Given the description of an element on the screen output the (x, y) to click on. 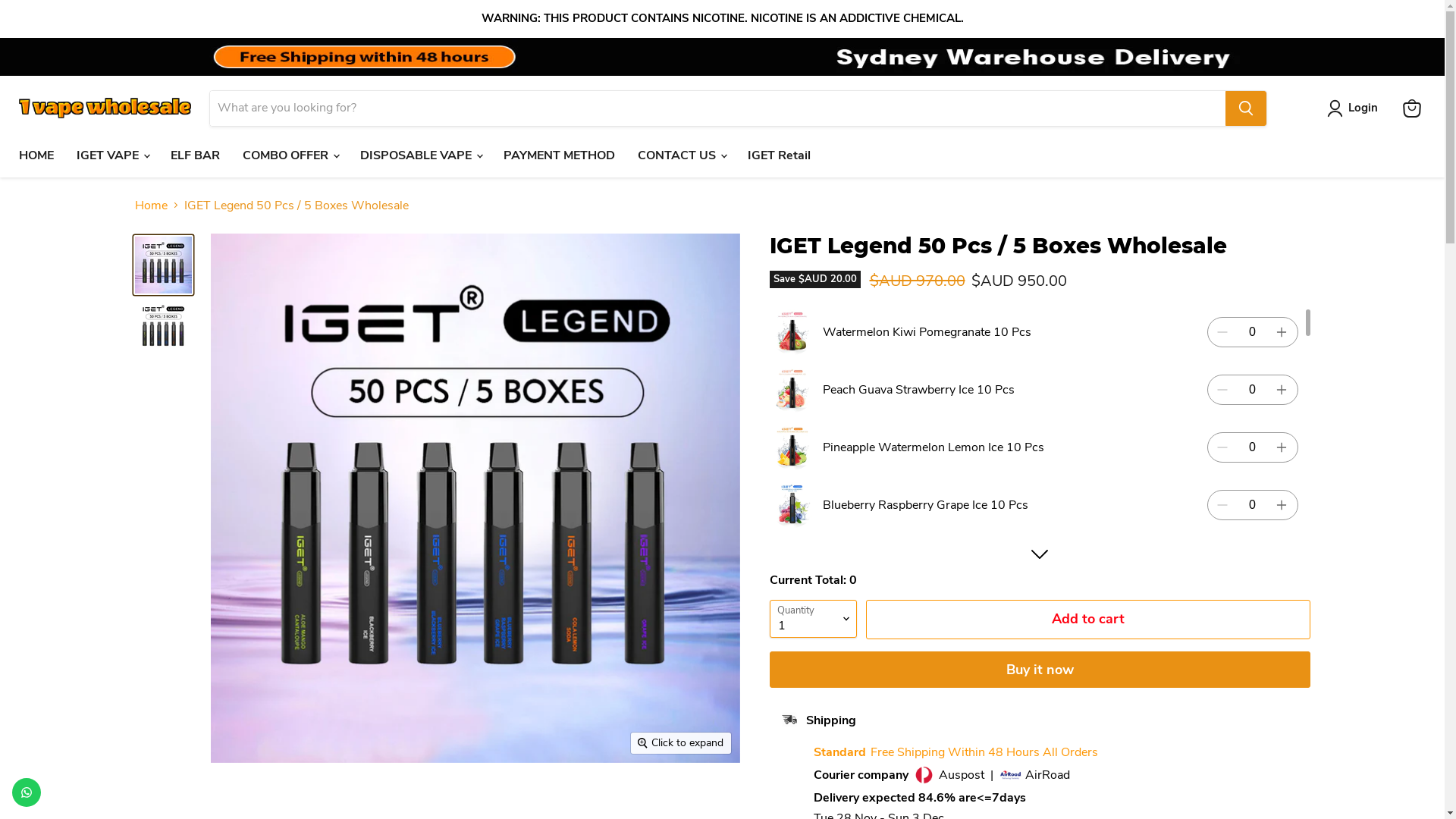
View cart Element type: text (1411, 107)
Add to cart Element type: text (1088, 619)
Click to expand Element type: text (680, 742)
IGET Retail Element type: text (779, 155)
PAYMENT METHOD Element type: text (559, 155)
HOME Element type: text (36, 155)
Home Element type: text (150, 205)
Buy it now Element type: text (1038, 668)
Login Element type: text (1355, 108)
ELF BAR Element type: text (195, 155)
